Given the description of an element on the screen output the (x, y) to click on. 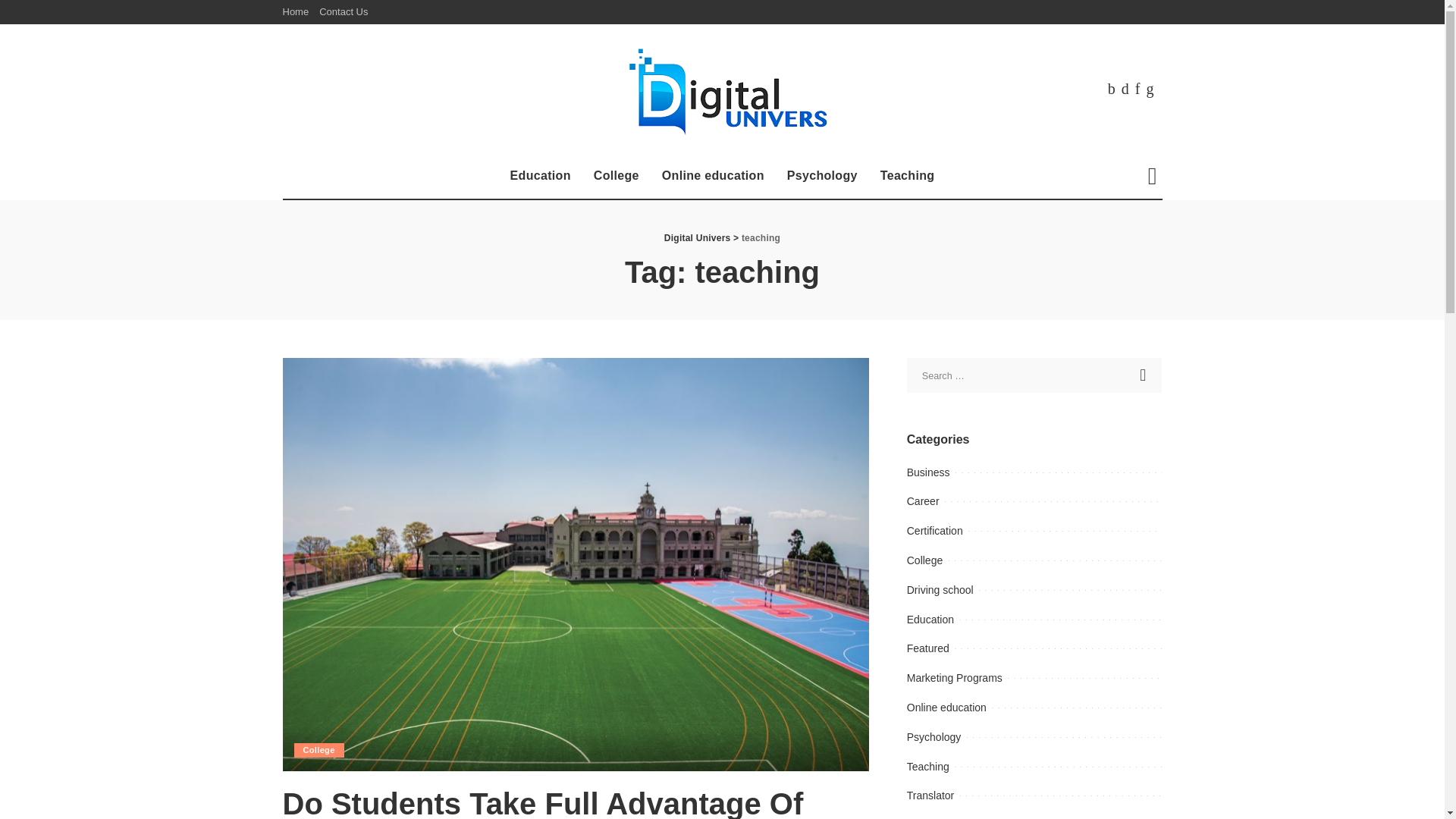
Online education (713, 176)
Home (298, 12)
Teaching (907, 176)
College (616, 176)
Psychology (822, 176)
Education (540, 176)
Search (1143, 375)
Search (1143, 375)
Contact Us (343, 12)
